Given the description of an element on the screen output the (x, y) to click on. 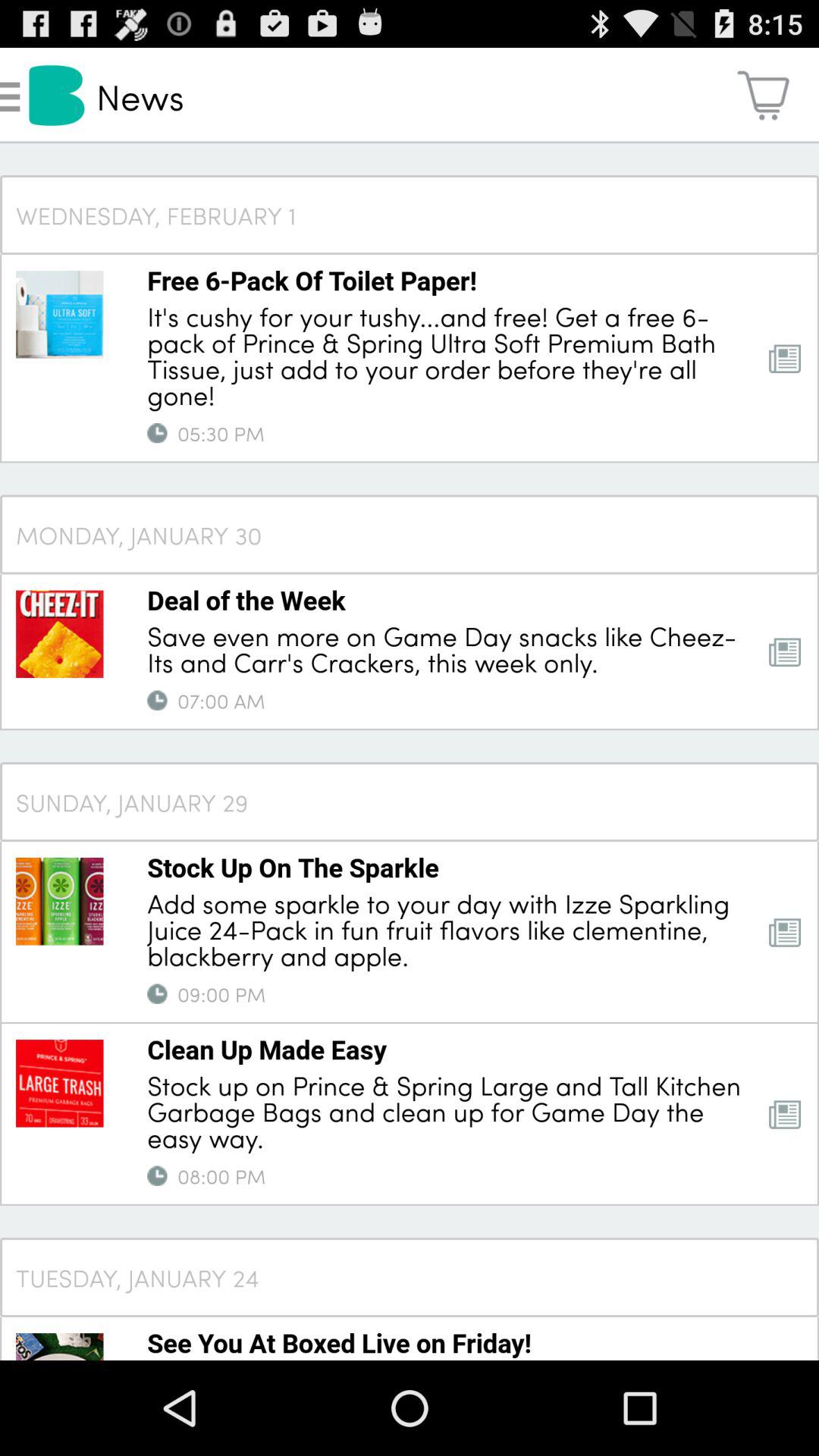
tap add some sparkle (448, 928)
